Given the description of an element on the screen output the (x, y) to click on. 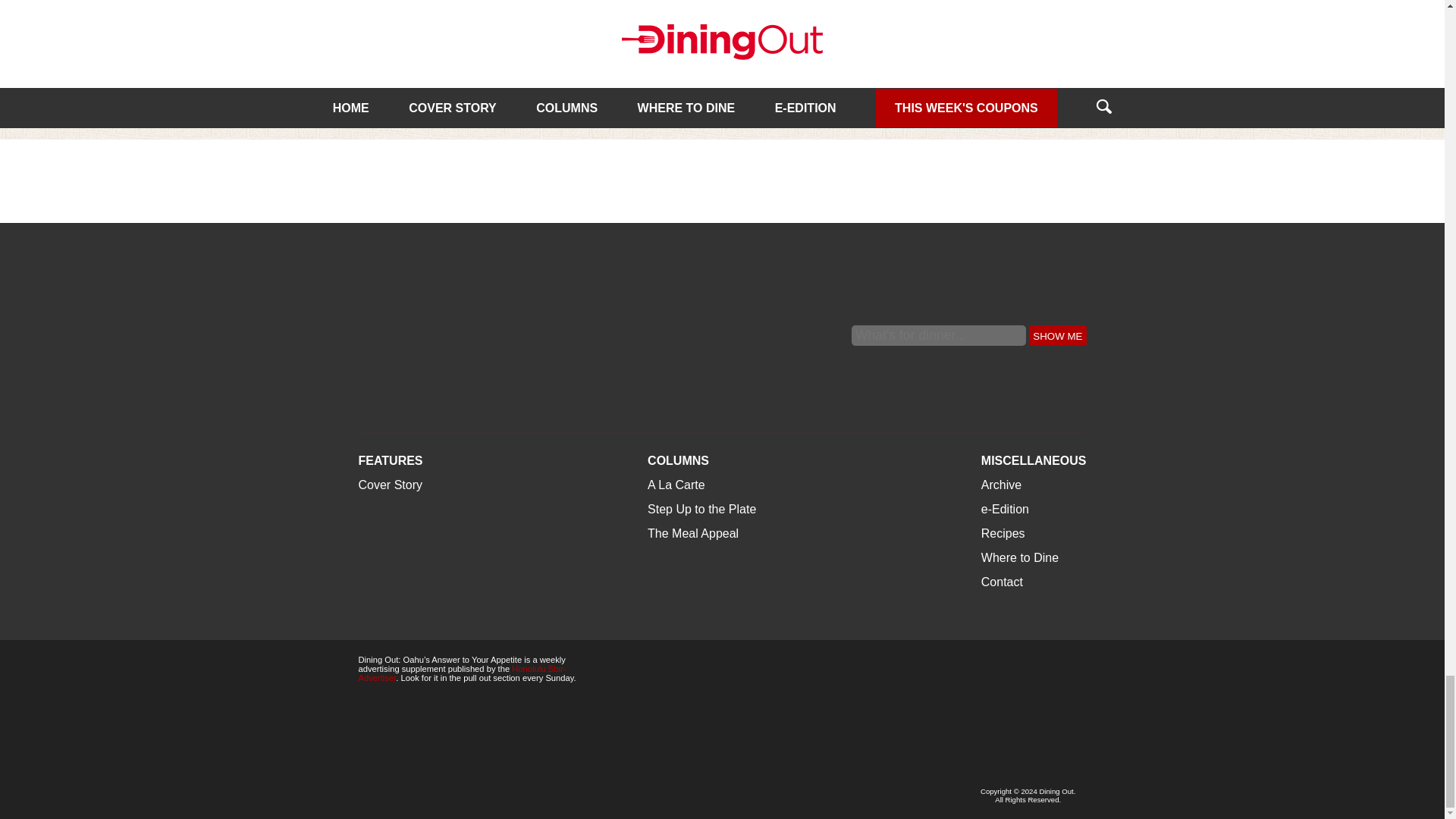
Indulge in a memorable meal (718, 62)
Indulge in a memorable meal (718, 62)
A La Carte (386, 38)
A La Carte (386, 38)
Indulge in a memorable meal (722, 24)
A La Carte (640, 38)
Local company highlights ono ulu (468, 24)
Local company highlights ono ulu (453, 73)
A La Carte (640, 38)
Local company highlights ono ulu (453, 73)
